Given the description of an element on the screen output the (x, y) to click on. 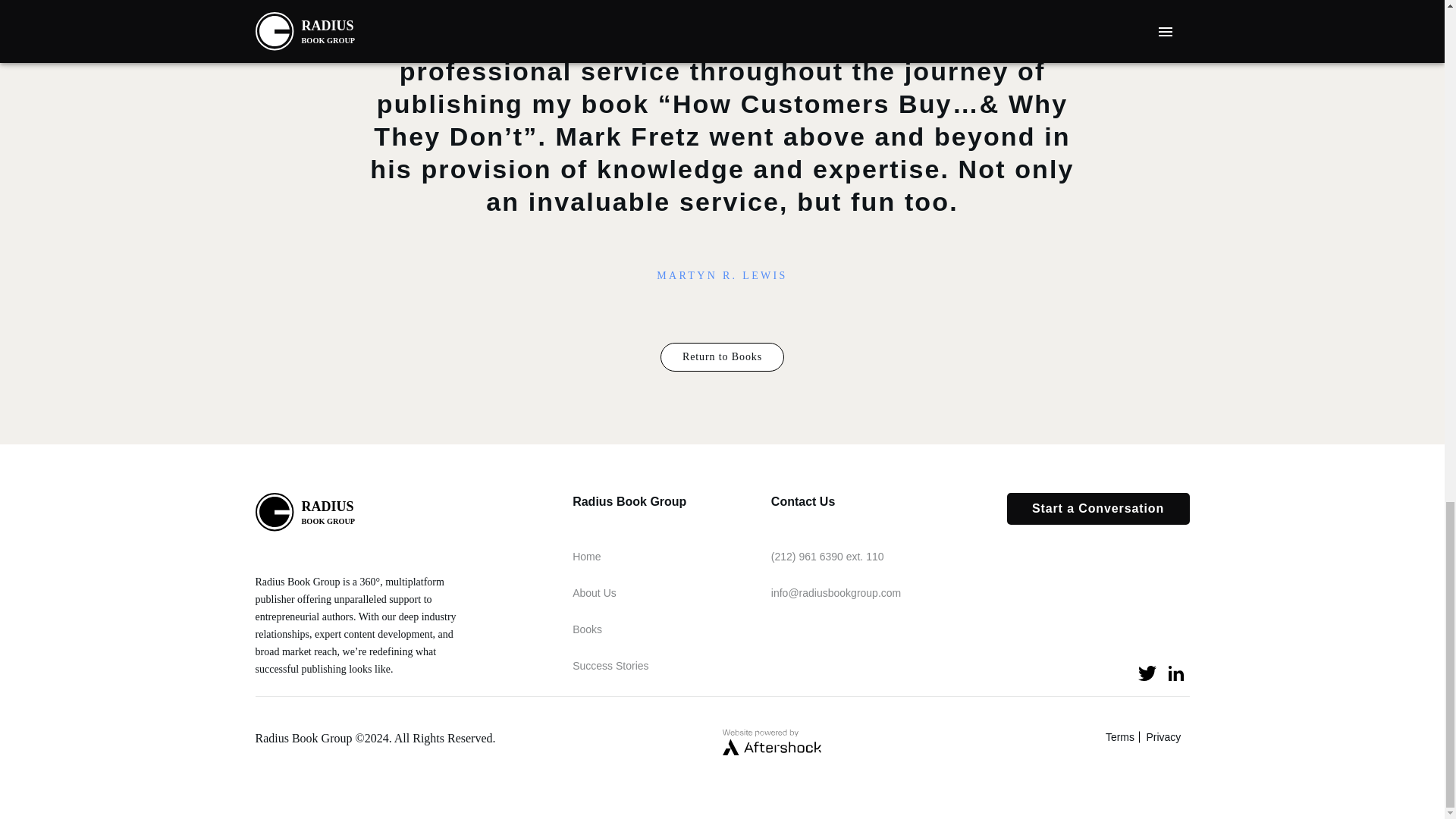
Start a Conversation (1098, 509)
Terms (1122, 737)
Books (587, 629)
Home (585, 556)
Privacy (1165, 737)
Success Stories (609, 666)
About Us (593, 593)
Return to Books (722, 357)
